Given the description of an element on the screen output the (x, y) to click on. 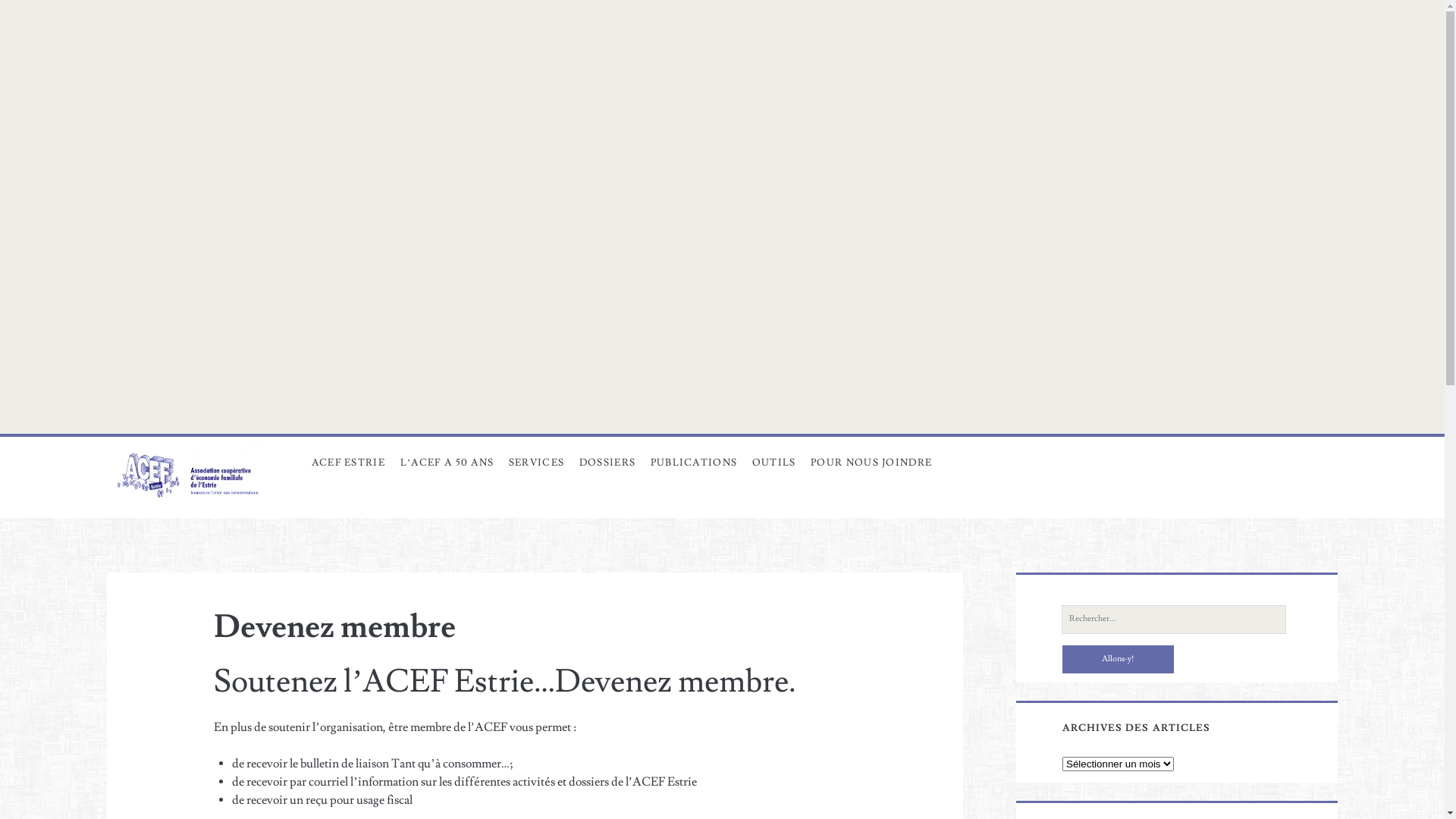
OUTILS Element type: text (773, 462)
ACEF ESTRIE Element type: text (348, 462)
DOSSIERS Element type: text (607, 462)
Recherche: Element type: hover (1173, 619)
POUR NOUS JOINDRE Element type: text (871, 462)
PUBLICATIONS Element type: text (693, 462)
SERVICES Element type: text (536, 462)
Allons-y! Element type: text (1117, 658)
